Given the description of an element on the screen output the (x, y) to click on. 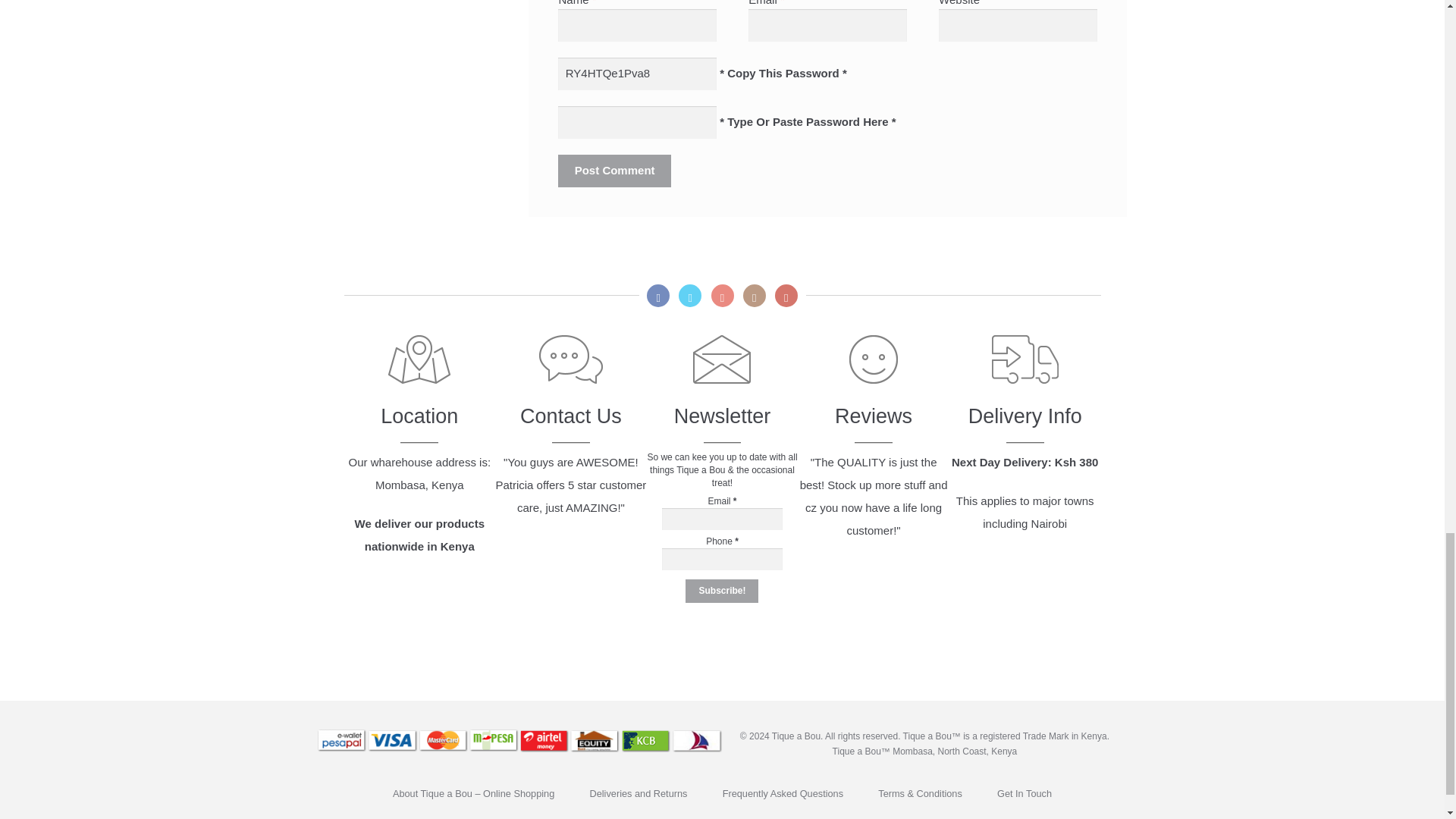
Subscribe! (721, 591)
Email (722, 518)
Phone (722, 558)
RY4HTQe1Pva8 (636, 73)
Post Comment (613, 170)
